Given the description of an element on the screen output the (x, y) to click on. 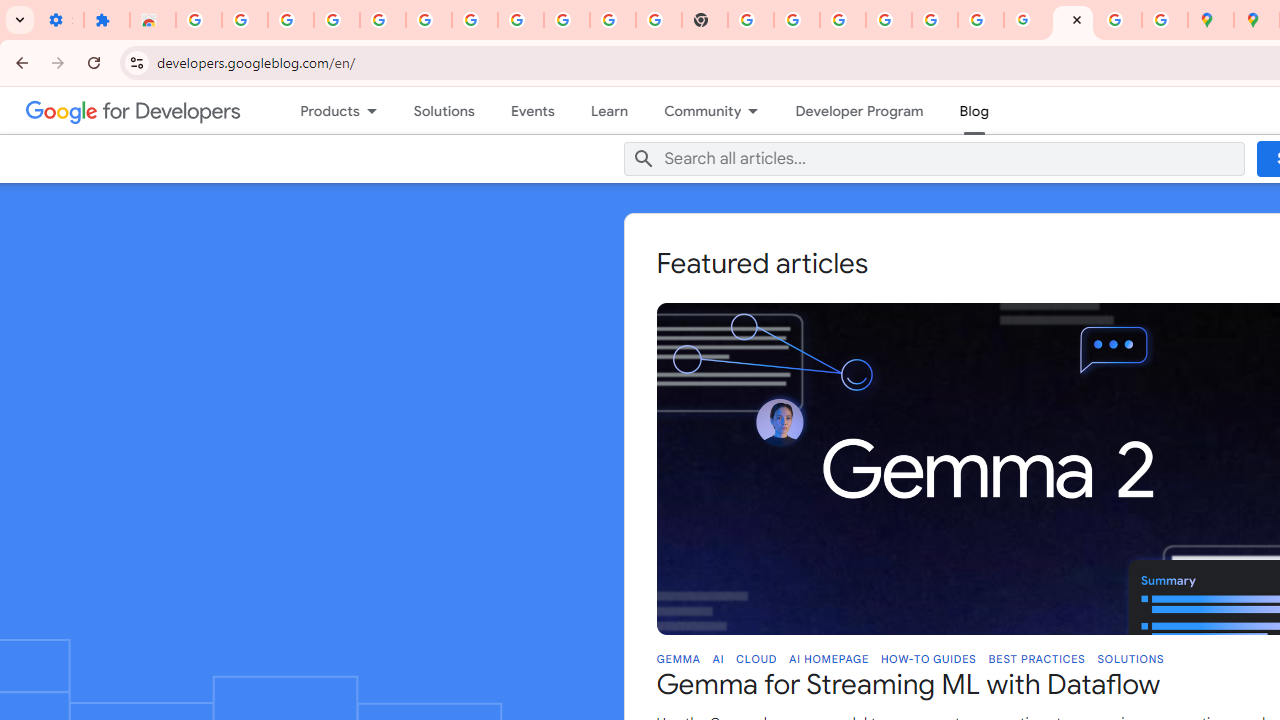
Google Account (567, 20)
Solutions (443, 110)
Sign in - Google Accounts (474, 20)
Developer Program (859, 110)
Products (320, 110)
Events (532, 110)
Community (694, 110)
https://scholar.google.com/ (751, 20)
Home - Google Developers Blog (1072, 20)
